Given the description of an element on the screen output the (x, y) to click on. 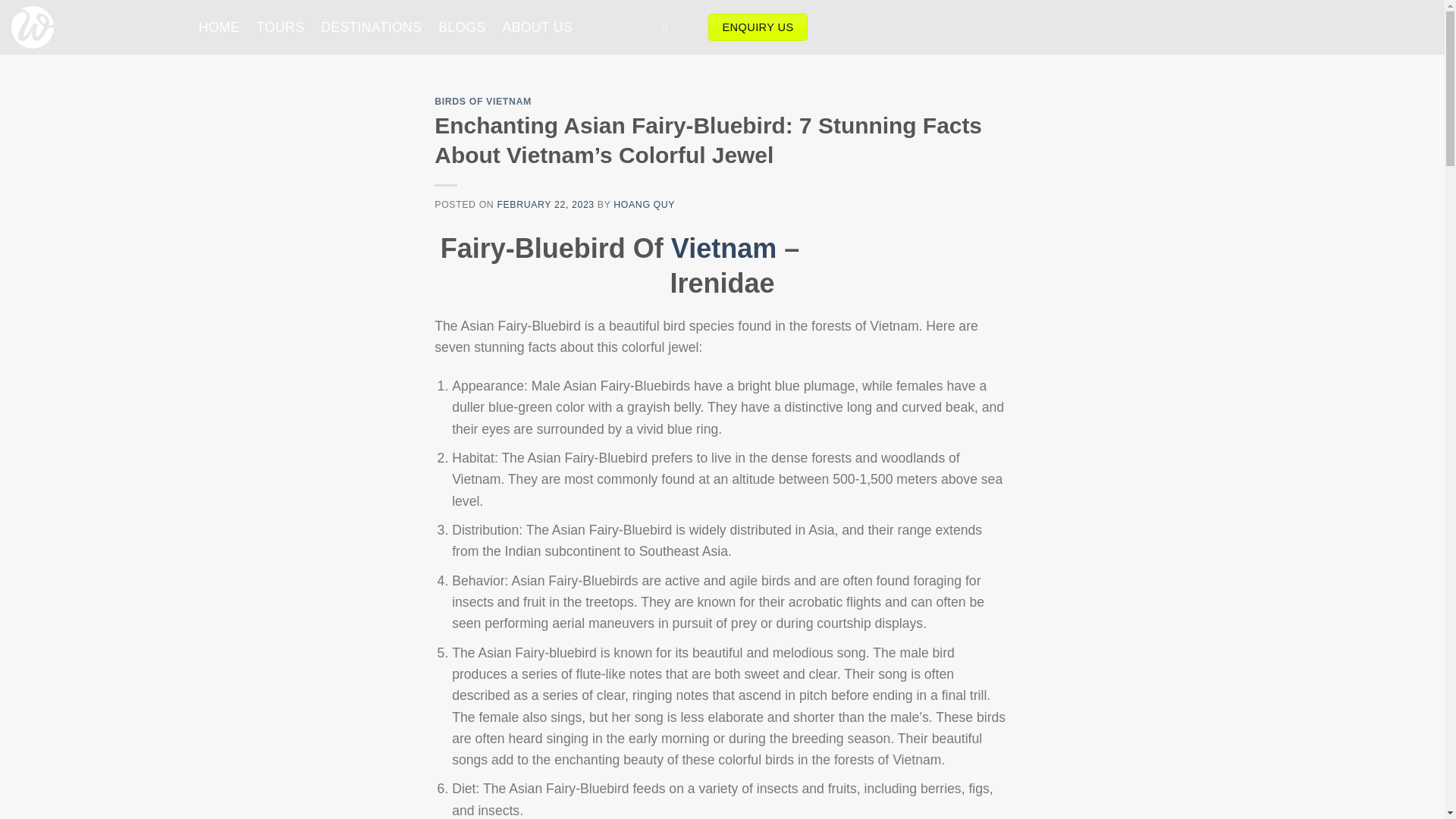
TOURS (280, 27)
ABOUT US (537, 27)
FEBRUARY 22, 2023 (545, 204)
BLOGS (461, 27)
BIRDS OF VIETNAM (482, 101)
HOME (219, 27)
HOANG QUY (643, 204)
ENQUIRY US (757, 27)
DESTINATIONS (371, 27)
Vietnam (723, 247)
